Given the description of an element on the screen output the (x, y) to click on. 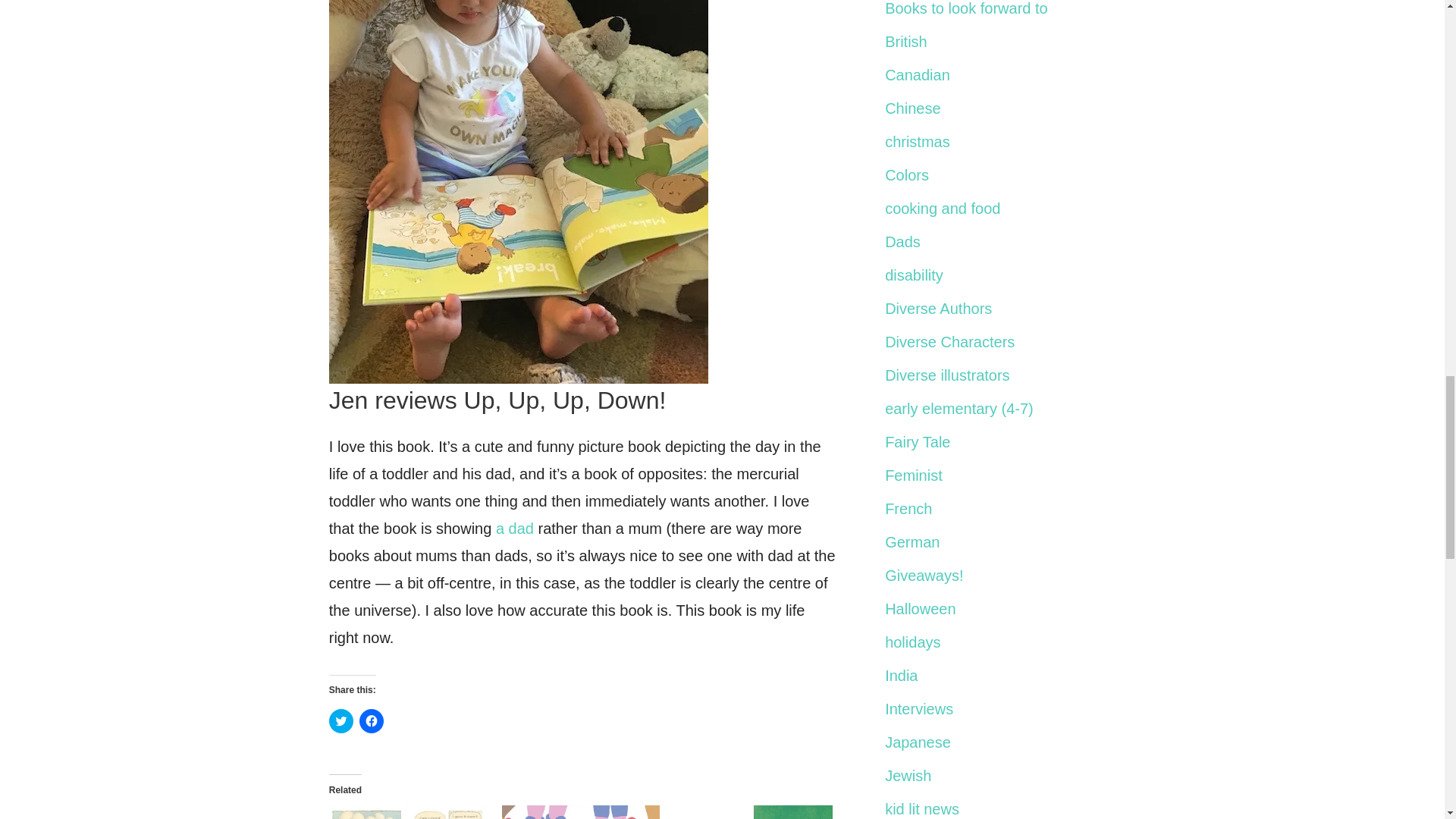
Baby book review: What Do You Wear? by Taro Gomi (753, 812)
Click to share on Twitter (341, 721)
Click to share on Facebook (371, 721)
a dad (515, 528)
Baby book review: You Are New by Lucy Knisley (580, 812)
